Given the description of an element on the screen output the (x, y) to click on. 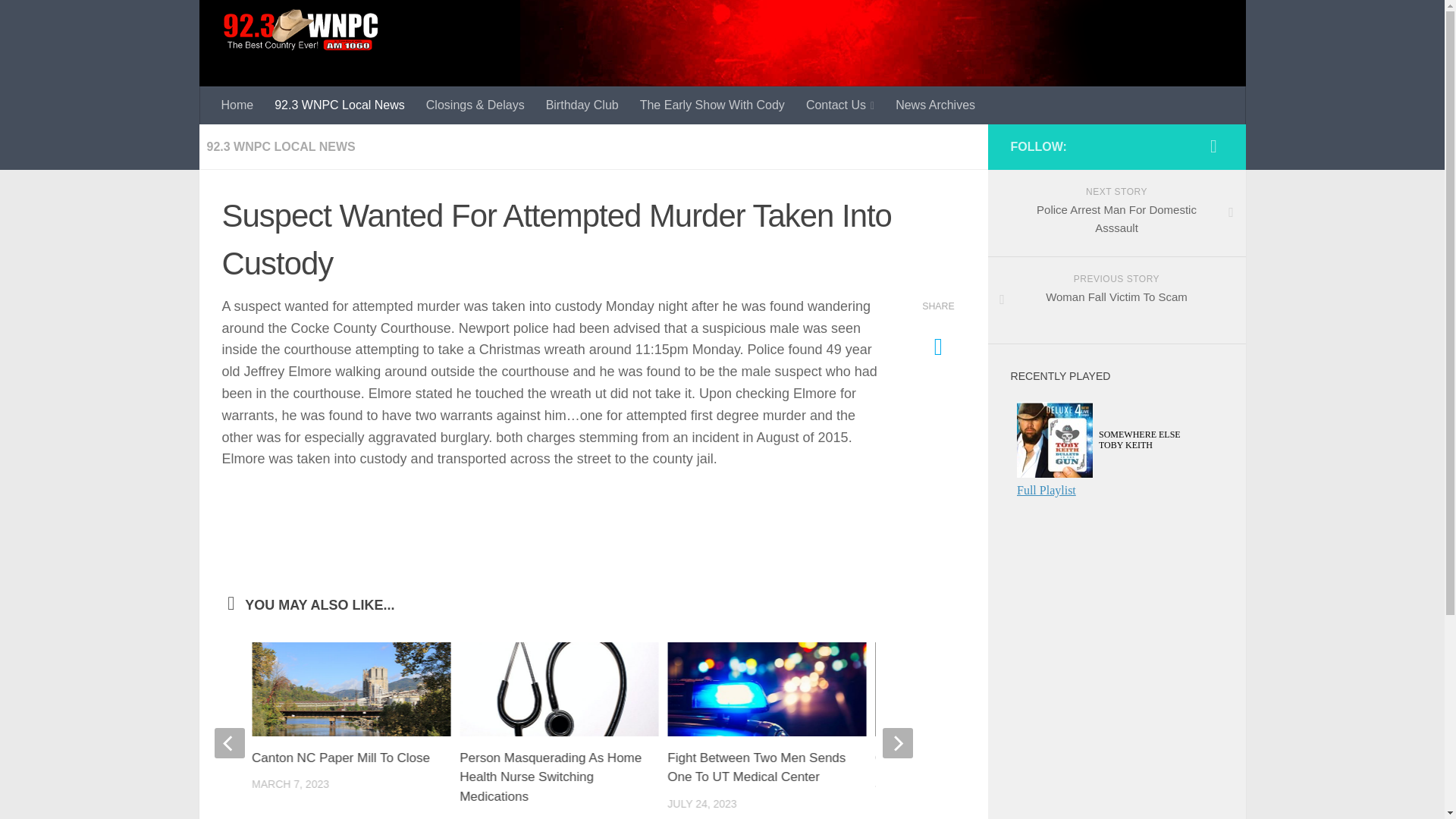
The Early Show With Cody (711, 105)
Birthday Club (581, 105)
92.3 WNPC LOCAL NEWS (280, 146)
Operation Friday The 13th (950, 757)
Home (237, 105)
Fight Between Two Men Sends One To UT Medical Center (755, 767)
Permalink to Operation Friday The 13th (950, 757)
News Archives (935, 105)
Contact Us (839, 105)
92.3 WNPC Local News (338, 105)
